Given the description of an element on the screen output the (x, y) to click on. 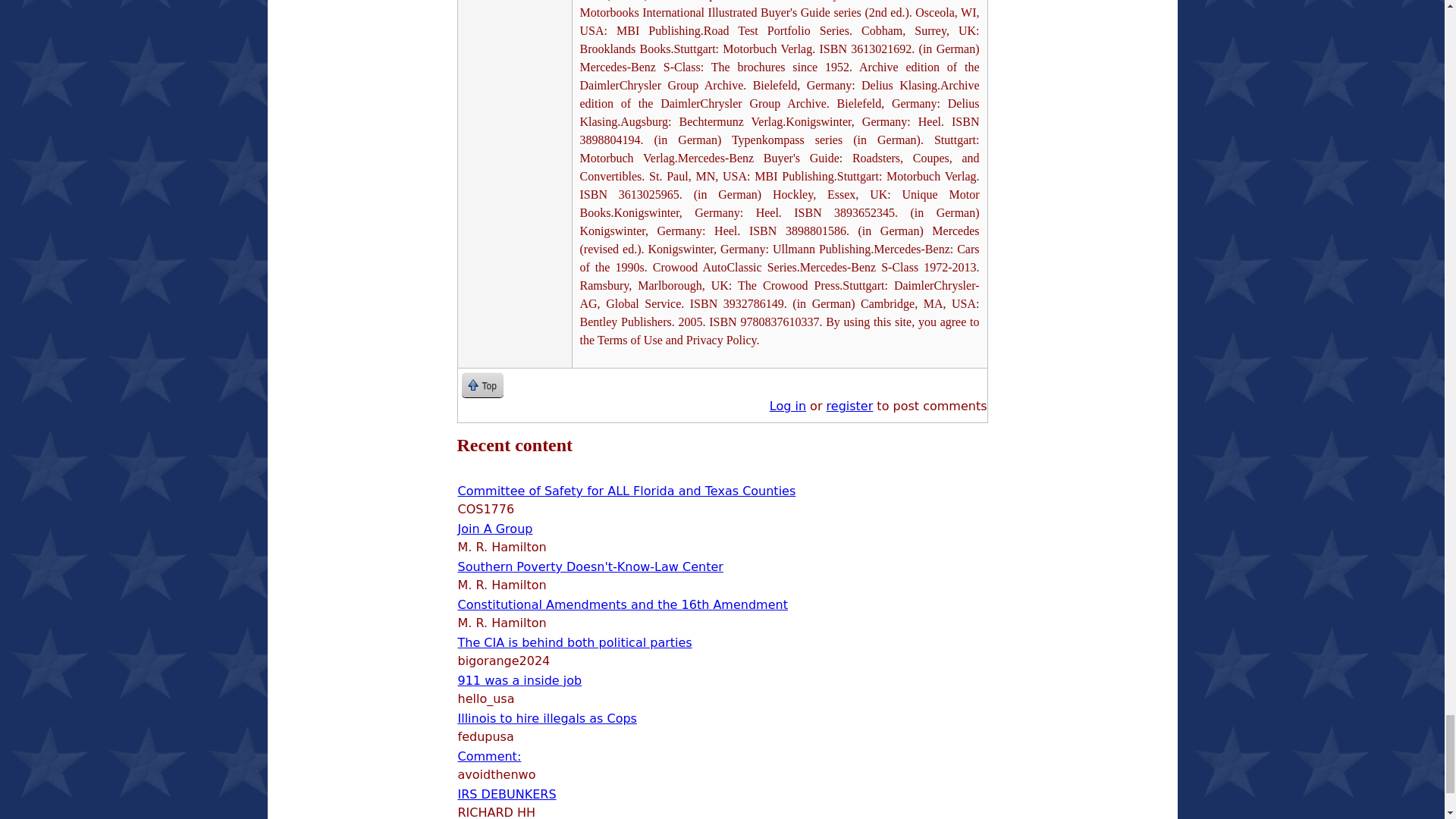
Jump to top of page (481, 384)
Log in (788, 405)
Committee of Safety for ALL Florida and Texas Counties (627, 490)
Constitutional Amendments and the 16th Amendment (622, 604)
The CIA is behind both political parties (575, 642)
Comment: (489, 756)
Top (481, 384)
911 was a inside job (520, 680)
Join A Group (495, 528)
Illinois to hire illegals as Cops (547, 718)
